Given the description of an element on the screen output the (x, y) to click on. 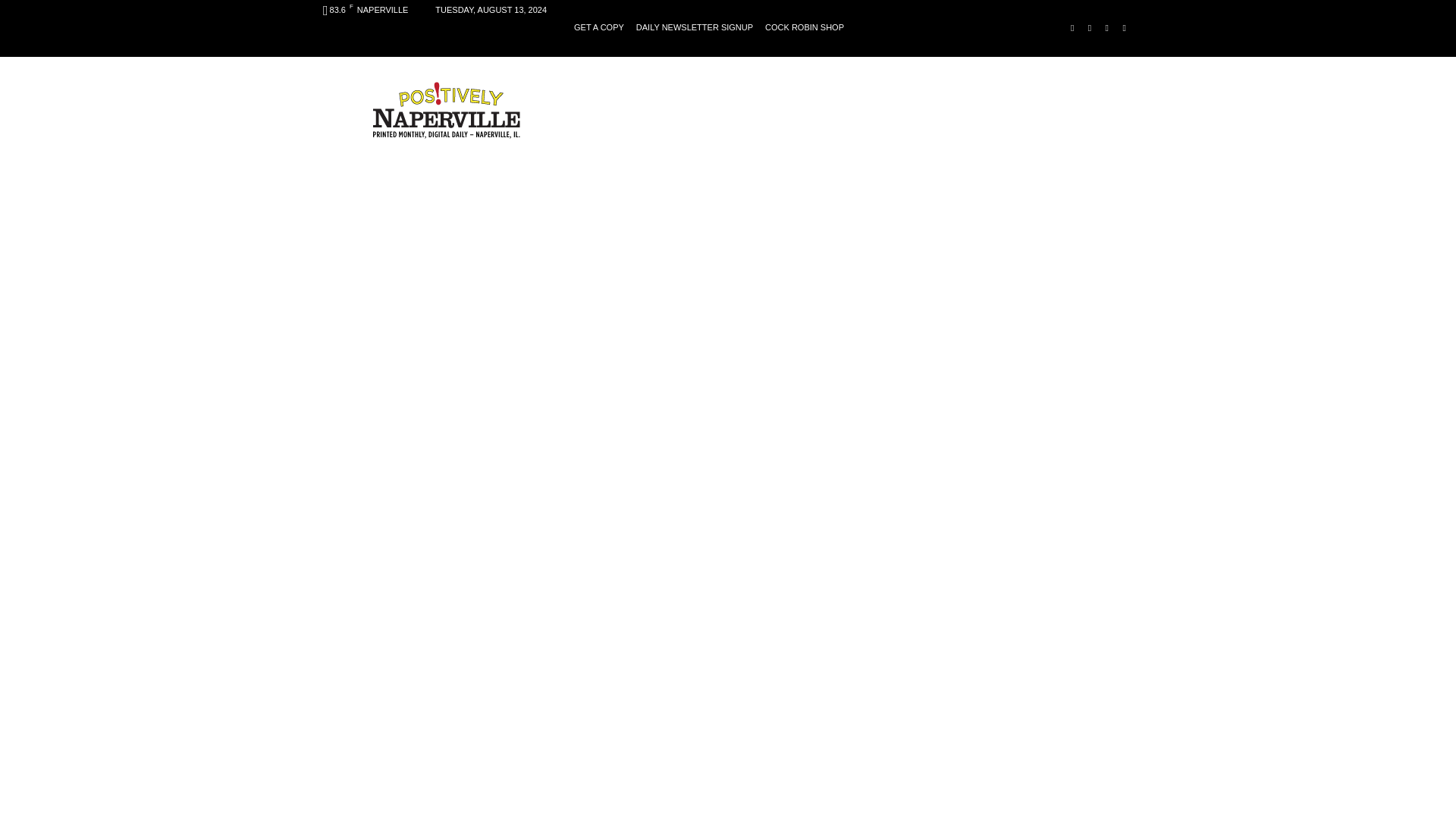
Positively Naperville (446, 109)
DAILY NEWSLETTER SIGNUP (694, 27)
RSS (1106, 27)
Instagram (1090, 27)
GET A COPY (598, 27)
COCK ROBIN SHOP (804, 27)
Twitter (1123, 27)
Positively Naperville (445, 109)
Facebook (1072, 27)
